Given the description of an element on the screen output the (x, y) to click on. 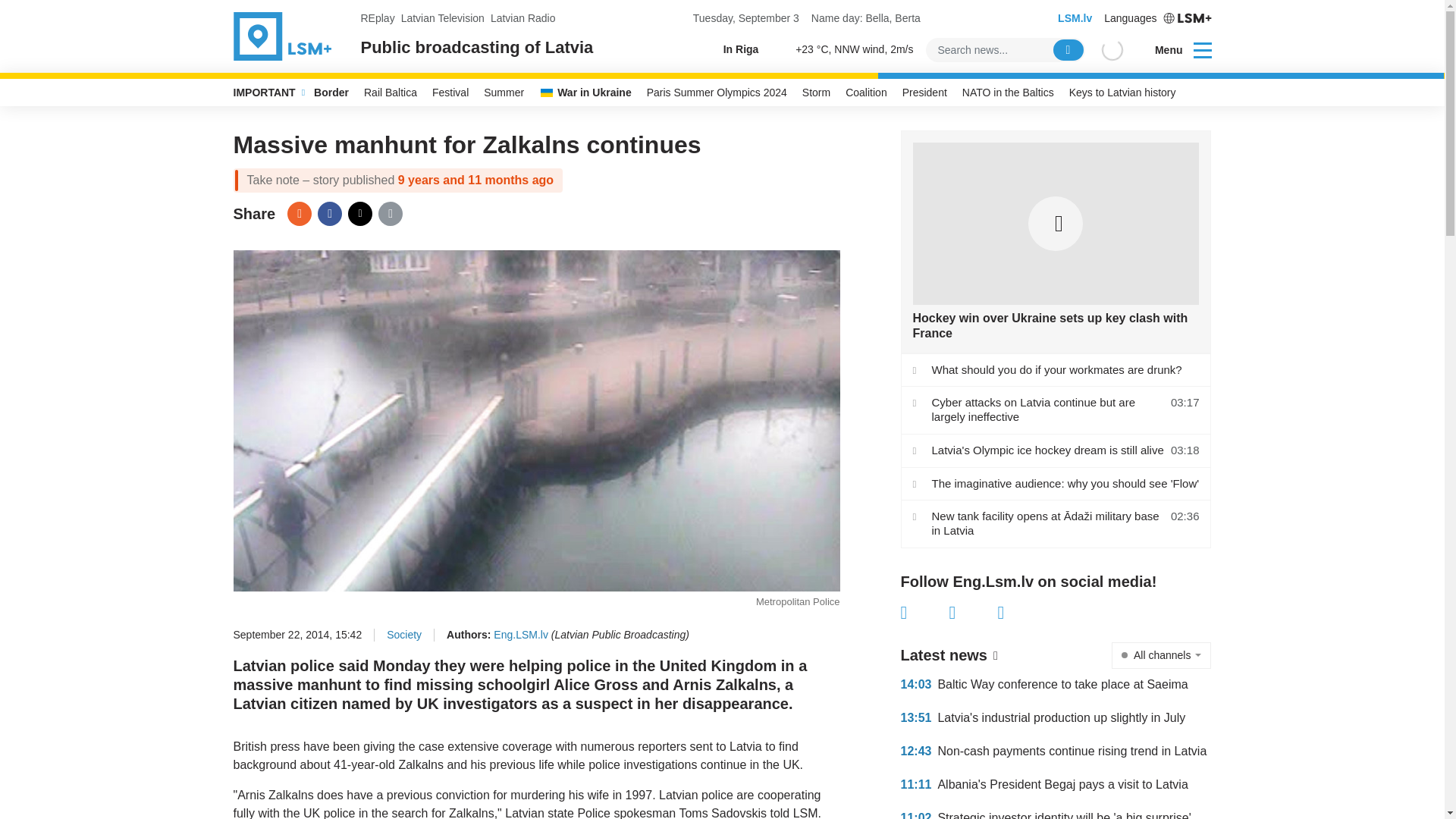
Coalition (865, 92)
Linkedin (1021, 612)
War in Ukraine (585, 92)
Storm (816, 92)
LSM.lv (1075, 18)
Keys to Latvian history (1122, 92)
Topics (1202, 49)
Festival (450, 92)
Facebook (329, 213)
Latvian Television (442, 18)
